Given the description of an element on the screen output the (x, y) to click on. 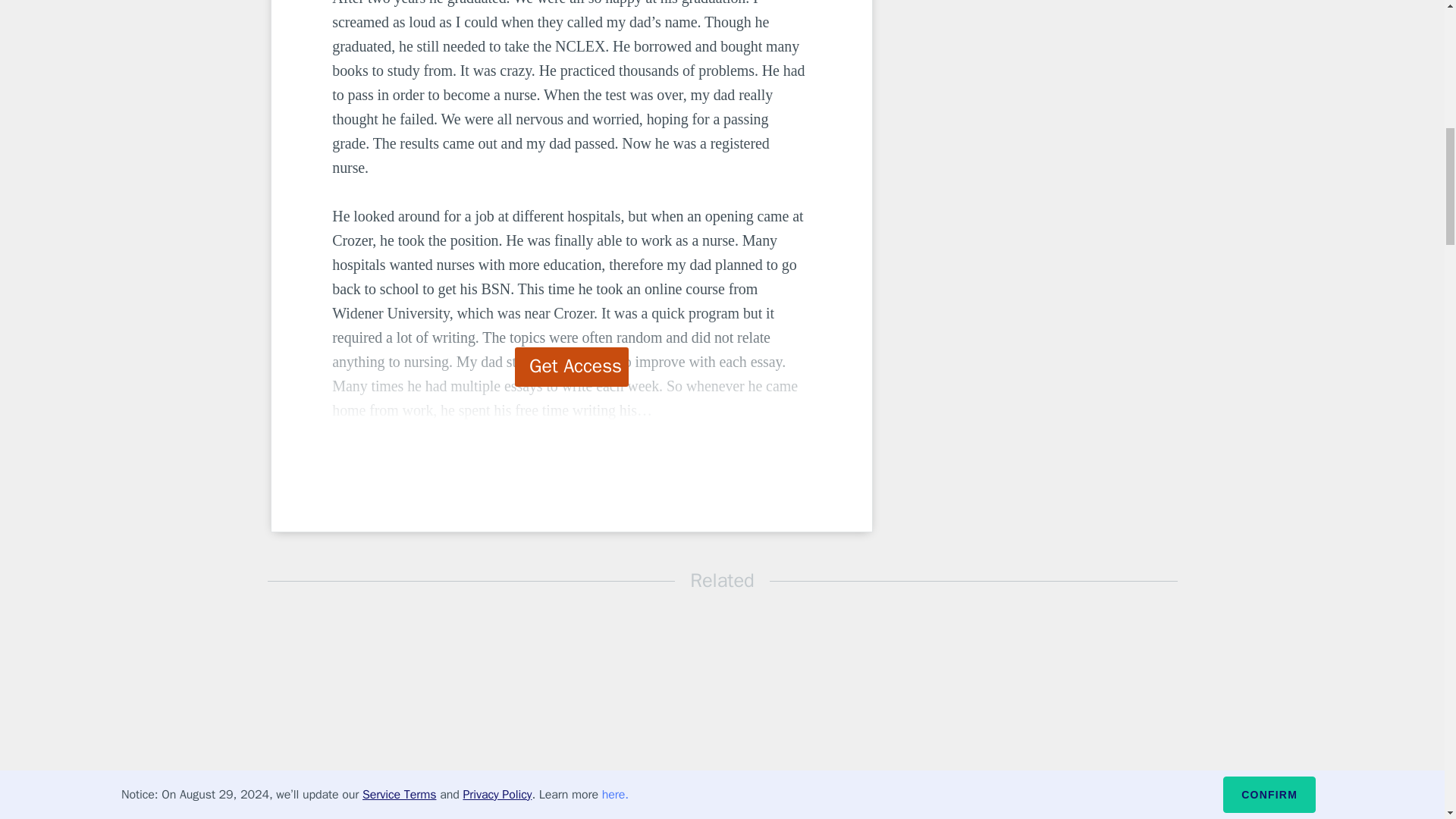
Get Access (571, 366)
